Given the description of an element on the screen output the (x, y) to click on. 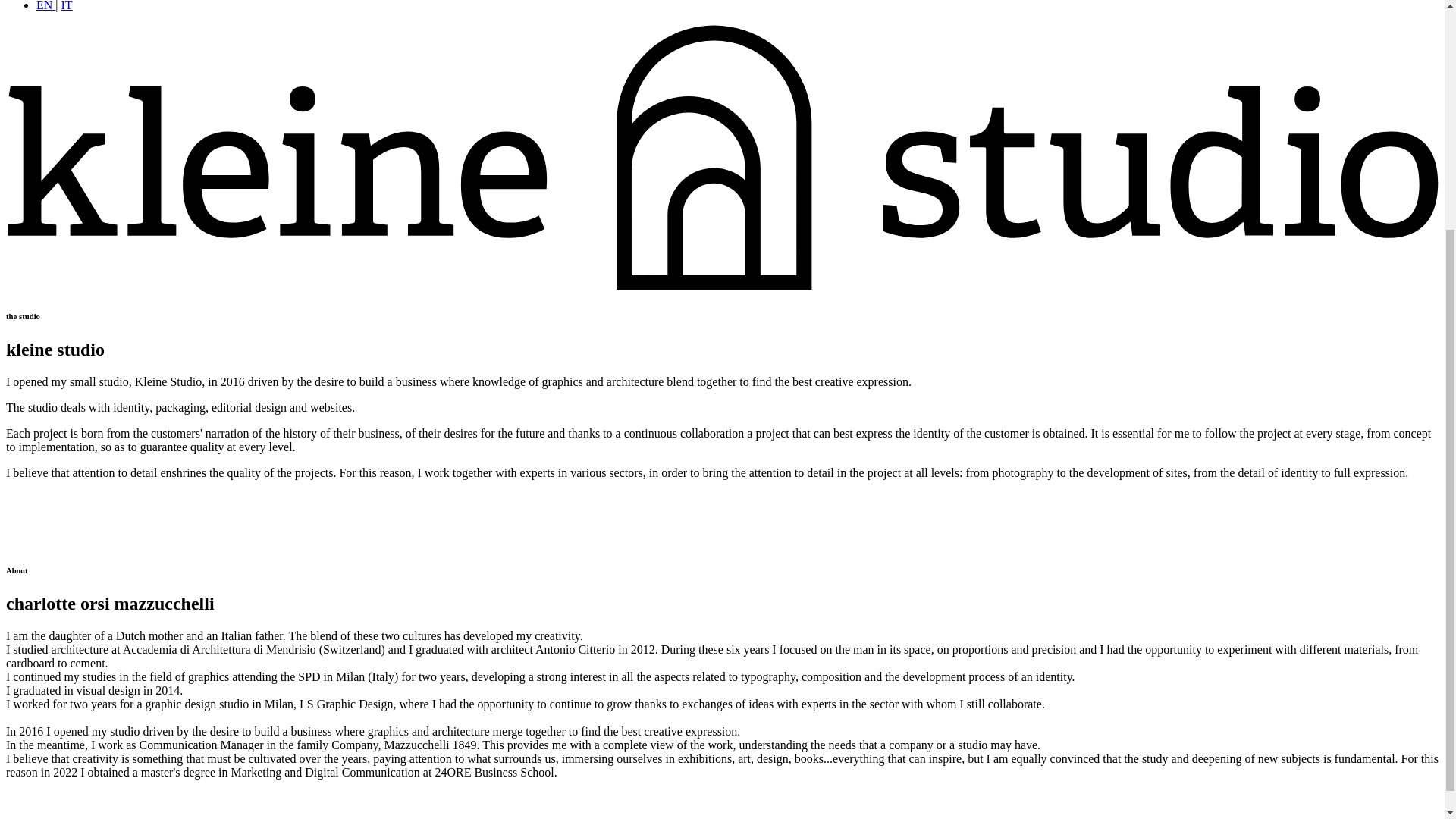
IT (66, 5)
EN (45, 5)
